Given the description of an element on the screen output the (x, y) to click on. 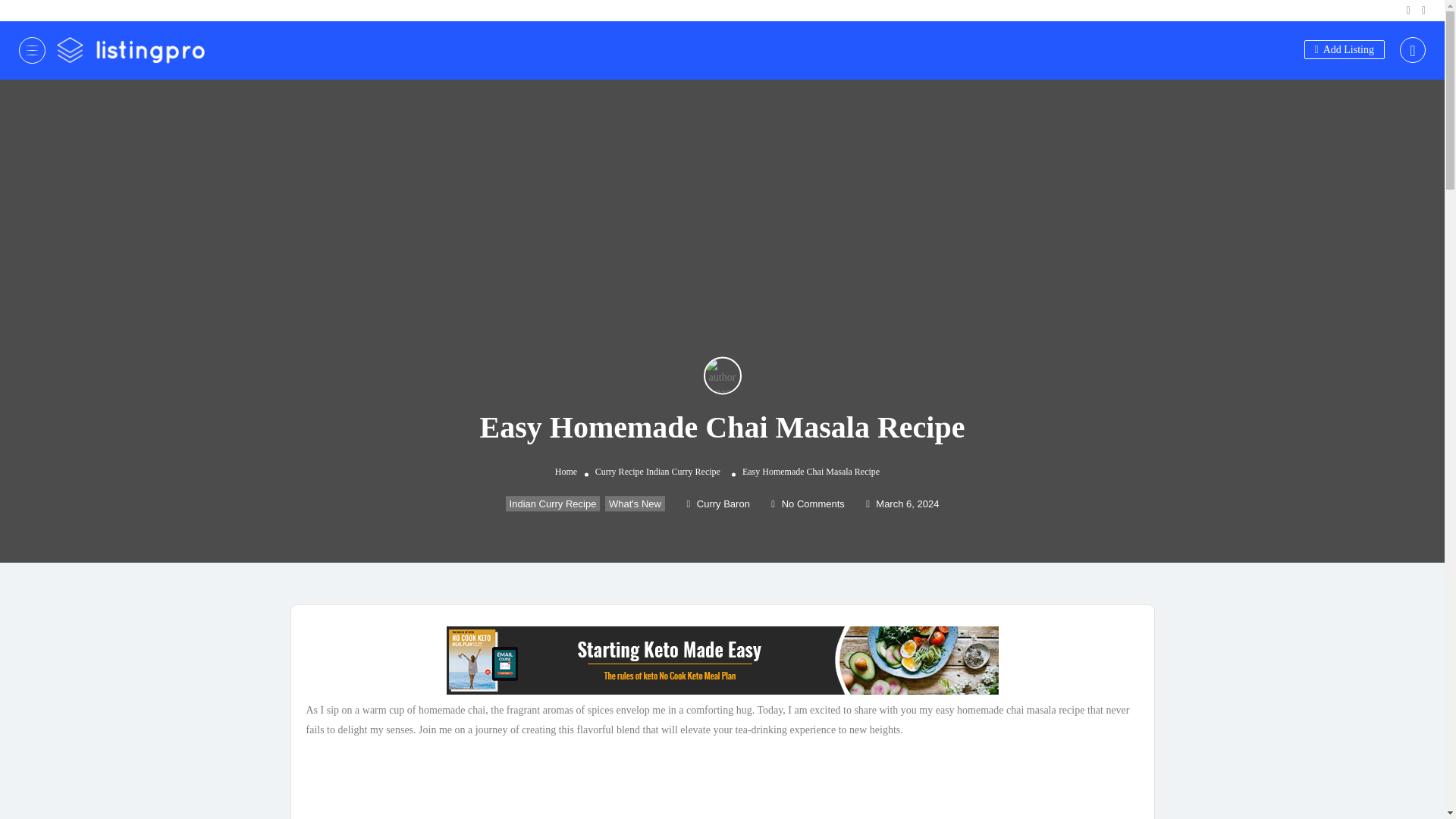
Home (565, 471)
Curry Recipe (619, 471)
YouTube video player (721, 783)
Indian Curry Recipe (683, 471)
Add Listing (1344, 49)
